Given the description of an element on the screen output the (x, y) to click on. 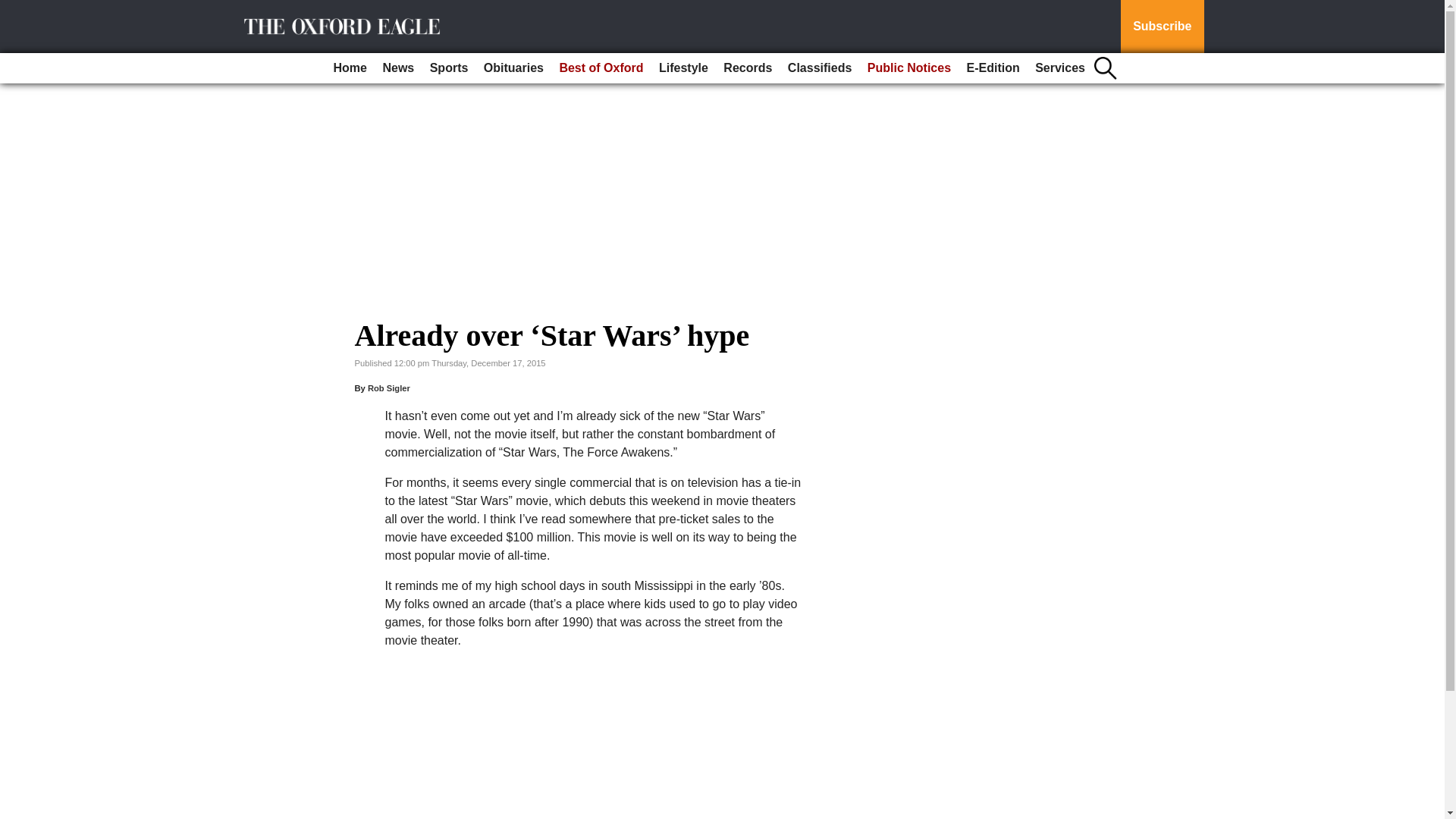
Rob Sigler (389, 388)
Classifieds (819, 68)
Sports (448, 68)
Best of Oxford (601, 68)
E-Edition (992, 68)
Home (349, 68)
Services (1059, 68)
Public Notices (908, 68)
Subscribe (1162, 26)
Obituaries (513, 68)
